Given the description of an element on the screen output the (x, y) to click on. 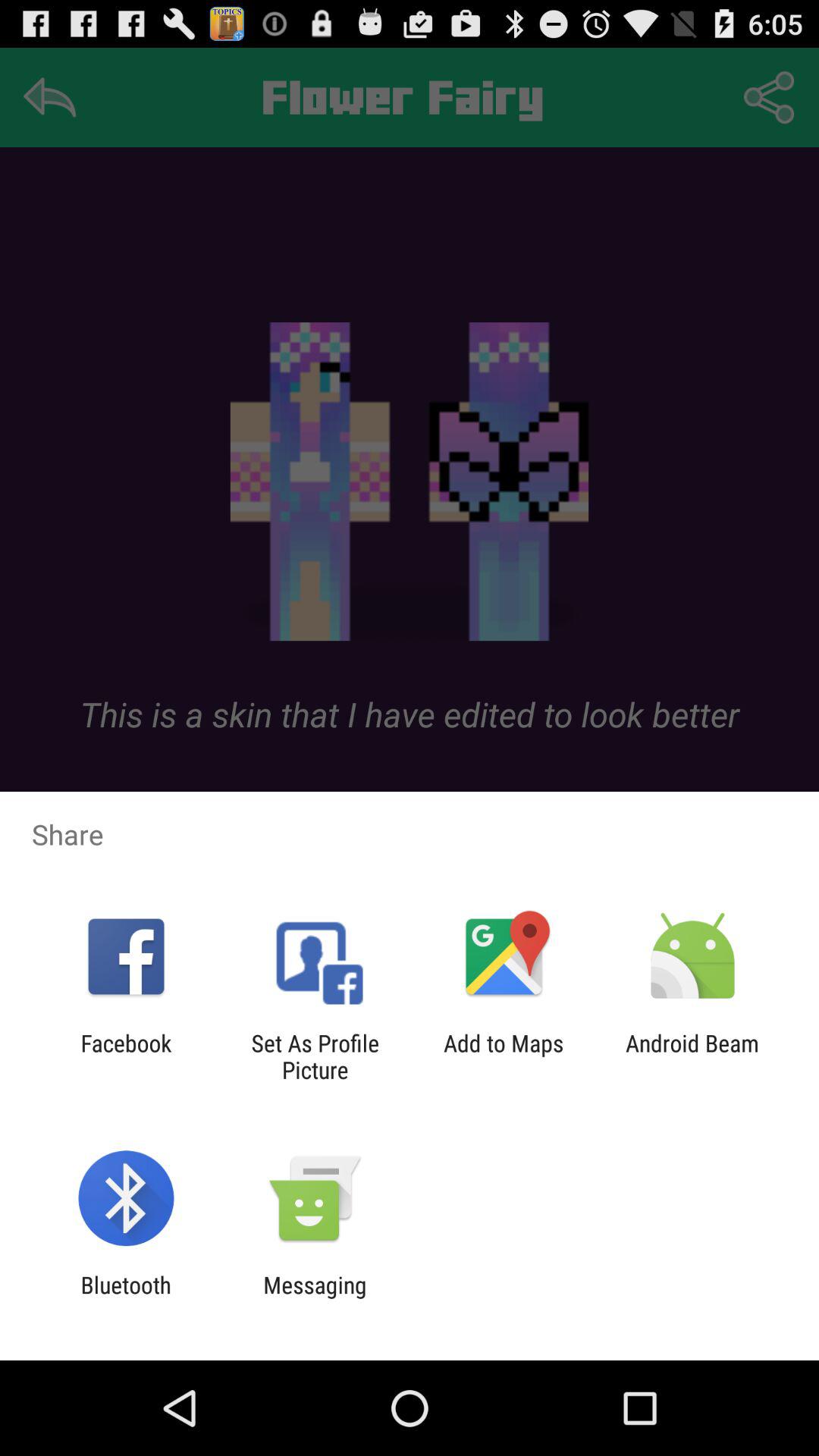
turn off item to the left of messaging item (125, 1298)
